Given the description of an element on the screen output the (x, y) to click on. 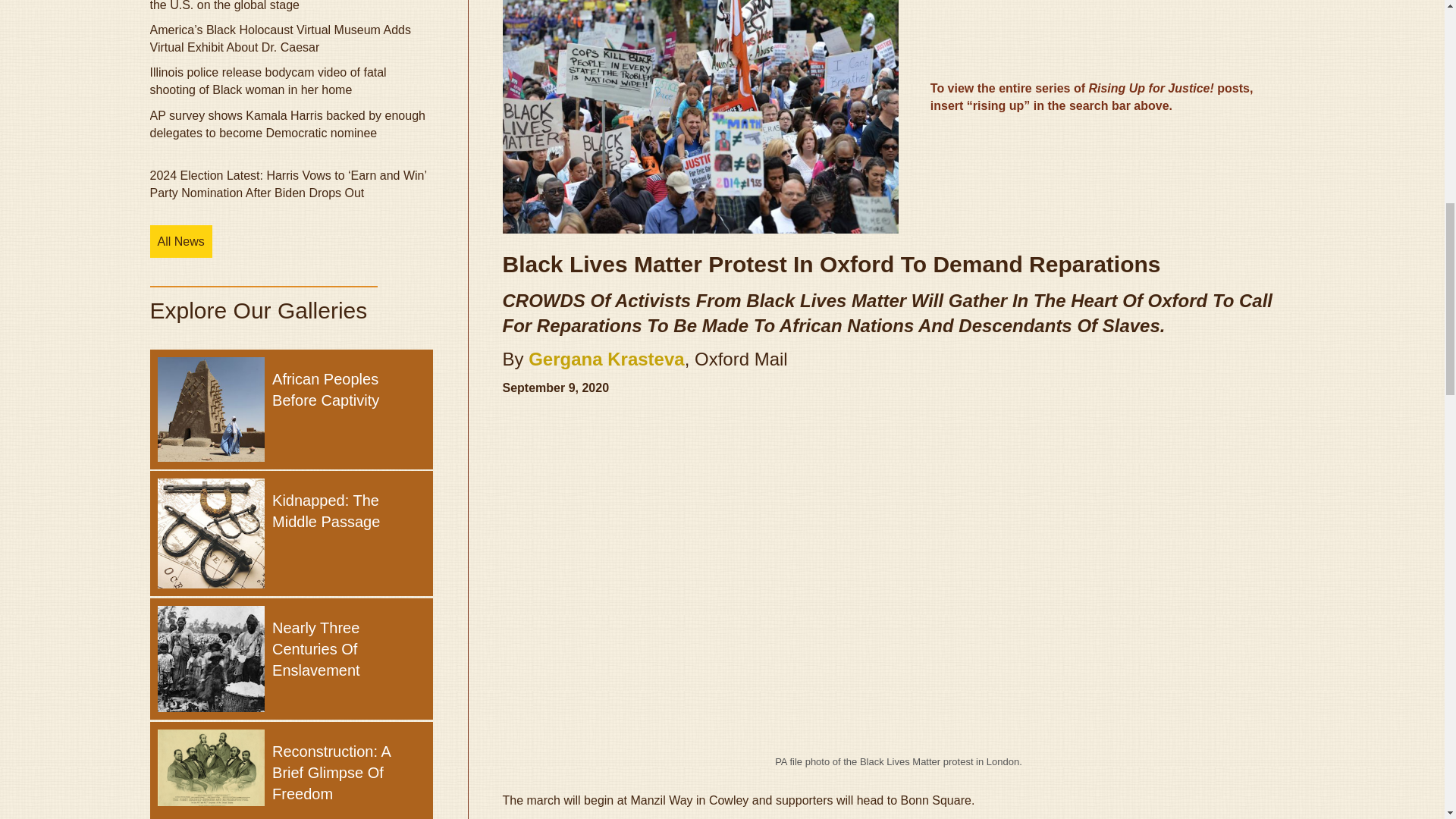
All News (180, 241)
